Given the description of an element on the screen output the (x, y) to click on. 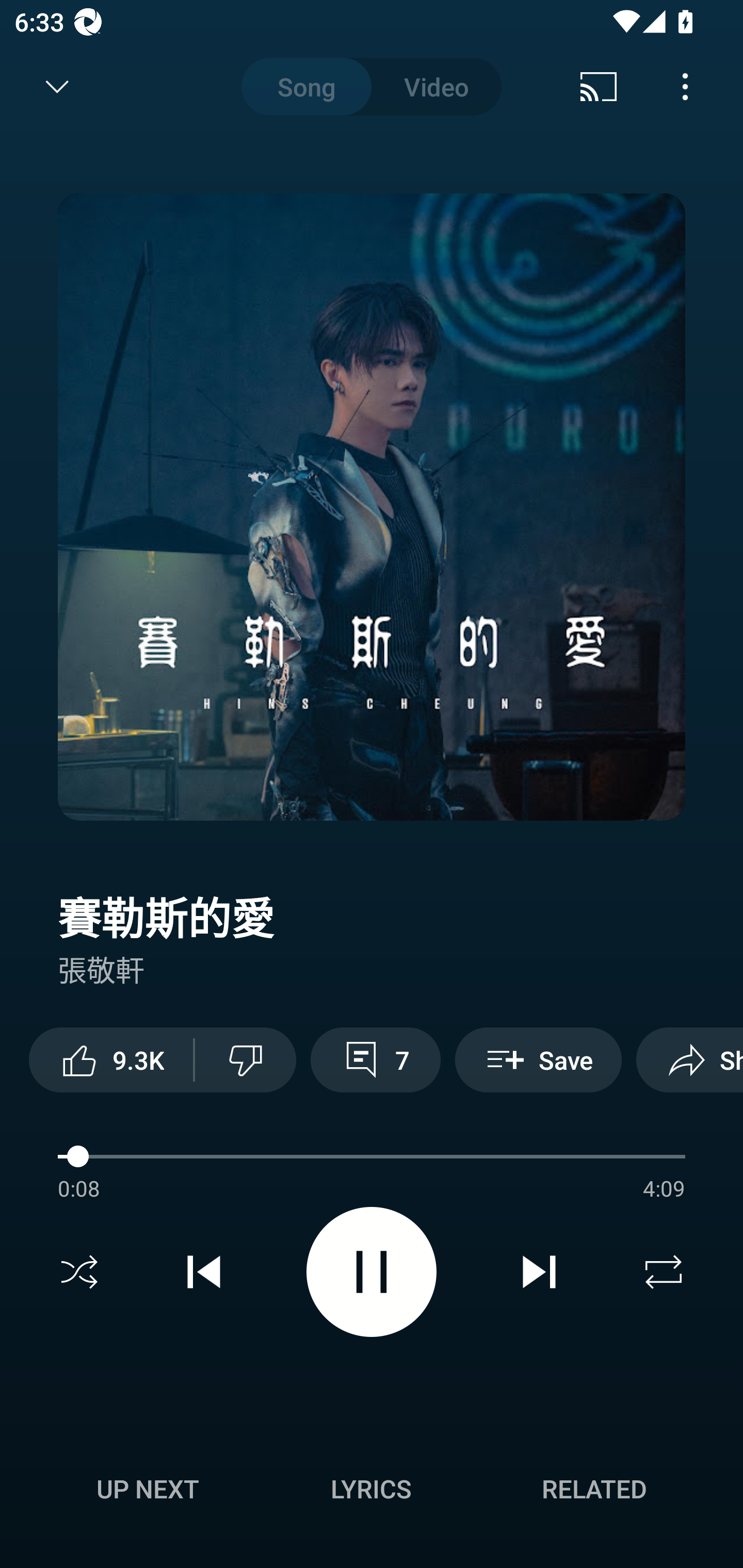
Minimize (57, 86)
Cast. Disconnected (598, 86)
Menu (684, 86)
9.3K like this video along with 9,346 other people (110, 1059)
Dislike (245, 1059)
7 View 7 comments (375, 1059)
Save Save to playlist (537, 1059)
Share (689, 1059)
Pause video (371, 1272)
Shuffle off (79, 1272)
Previous track (203, 1272)
Next track (538, 1272)
Repeat off (663, 1272)
Up next UP NEXT Lyrics LYRICS Related RELATED (371, 1491)
Lyrics LYRICS (370, 1488)
Related RELATED (594, 1488)
